Given the description of an element on the screen output the (x, y) to click on. 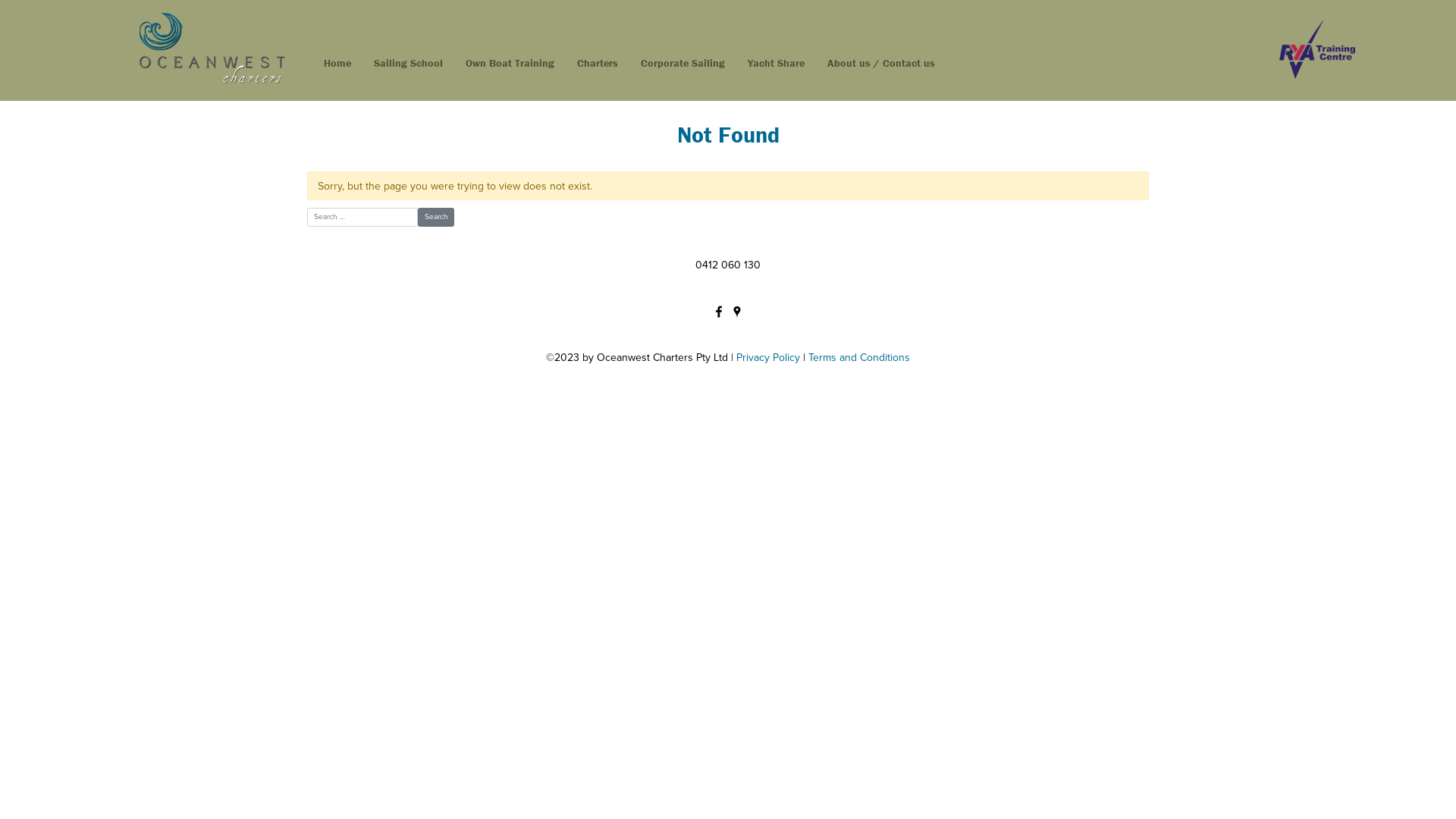
Search Element type: text (435, 216)
Sailing School Element type: text (408, 63)
Home Element type: text (337, 63)
Own Boat Training Element type: text (509, 63)
Charters Element type: text (597, 63)
About us / Contact us Element type: text (880, 63)
Privacy Policy Element type: text (768, 357)
Yacht Share Element type: text (775, 63)
Terms and Conditions Element type: text (859, 357)
Corporate Sailing Element type: text (682, 63)
